Given the description of an element on the screen output the (x, y) to click on. 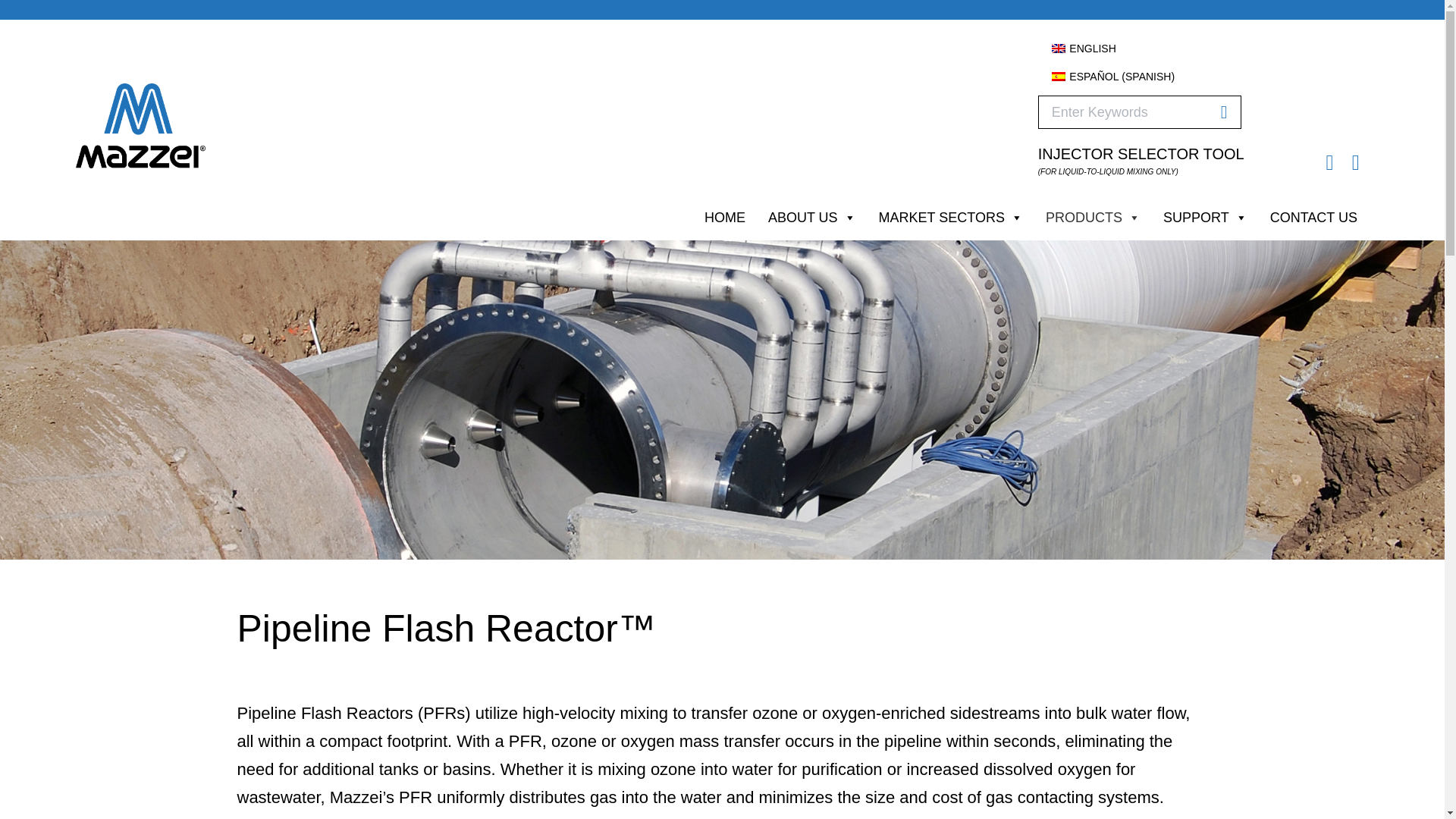
ABOUT US (812, 217)
ENGLISH (1083, 48)
MARKET SECTORS (950, 217)
HOME (725, 217)
PRODUCTS (1092, 217)
